Given the description of an element on the screen output the (x, y) to click on. 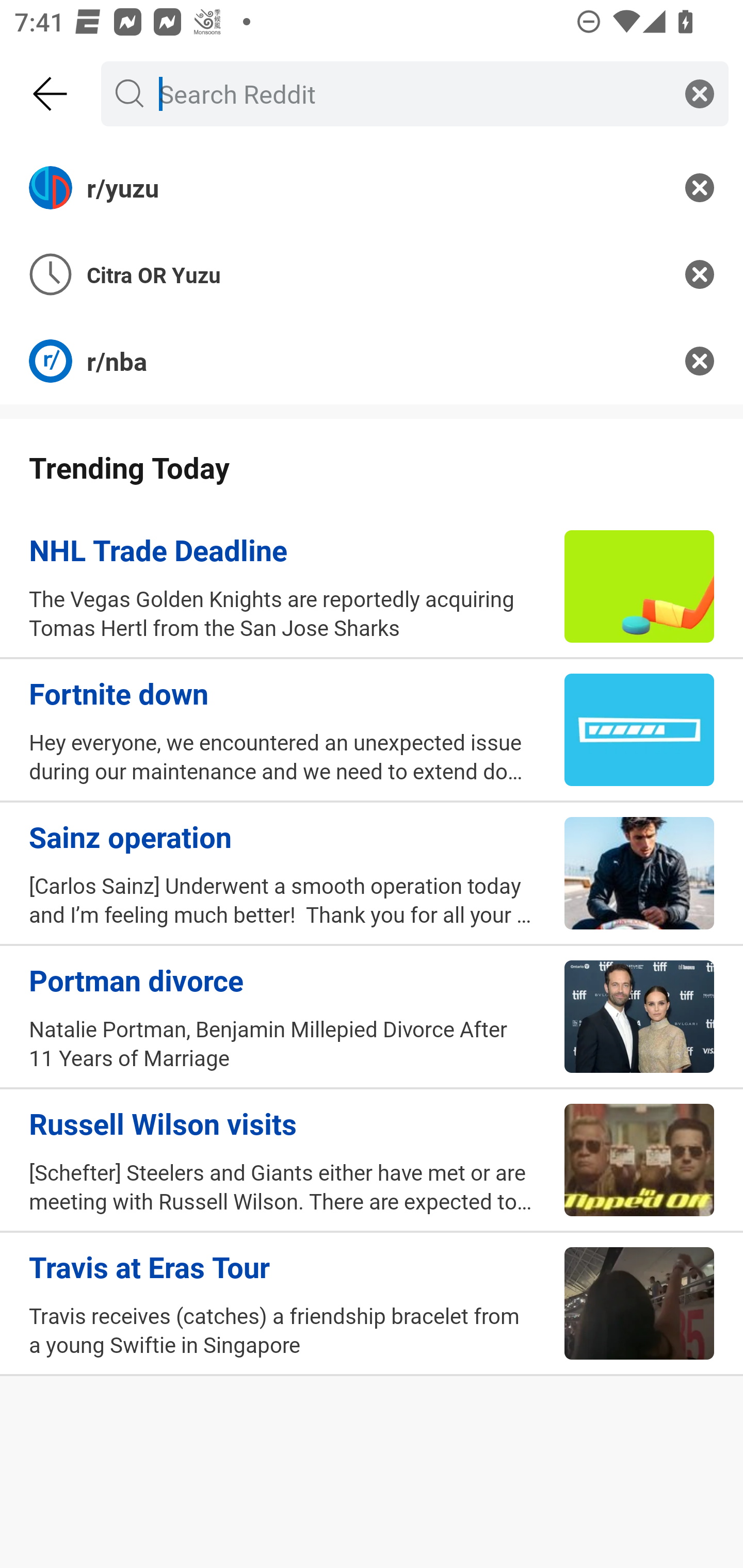
Back (50, 93)
Search Reddit (410, 93)
Clear search (699, 93)
r/yuzu Recent search: r/yuzu Remove (371, 187)
Remove (699, 187)
Citra OR Yuzu Recent search: Citra OR Yuzu Remove (371, 274)
Remove (699, 274)
r/nba Recent search: r/nba Remove (371, 361)
Remove (699, 361)
